Given the description of an element on the screen output the (x, y) to click on. 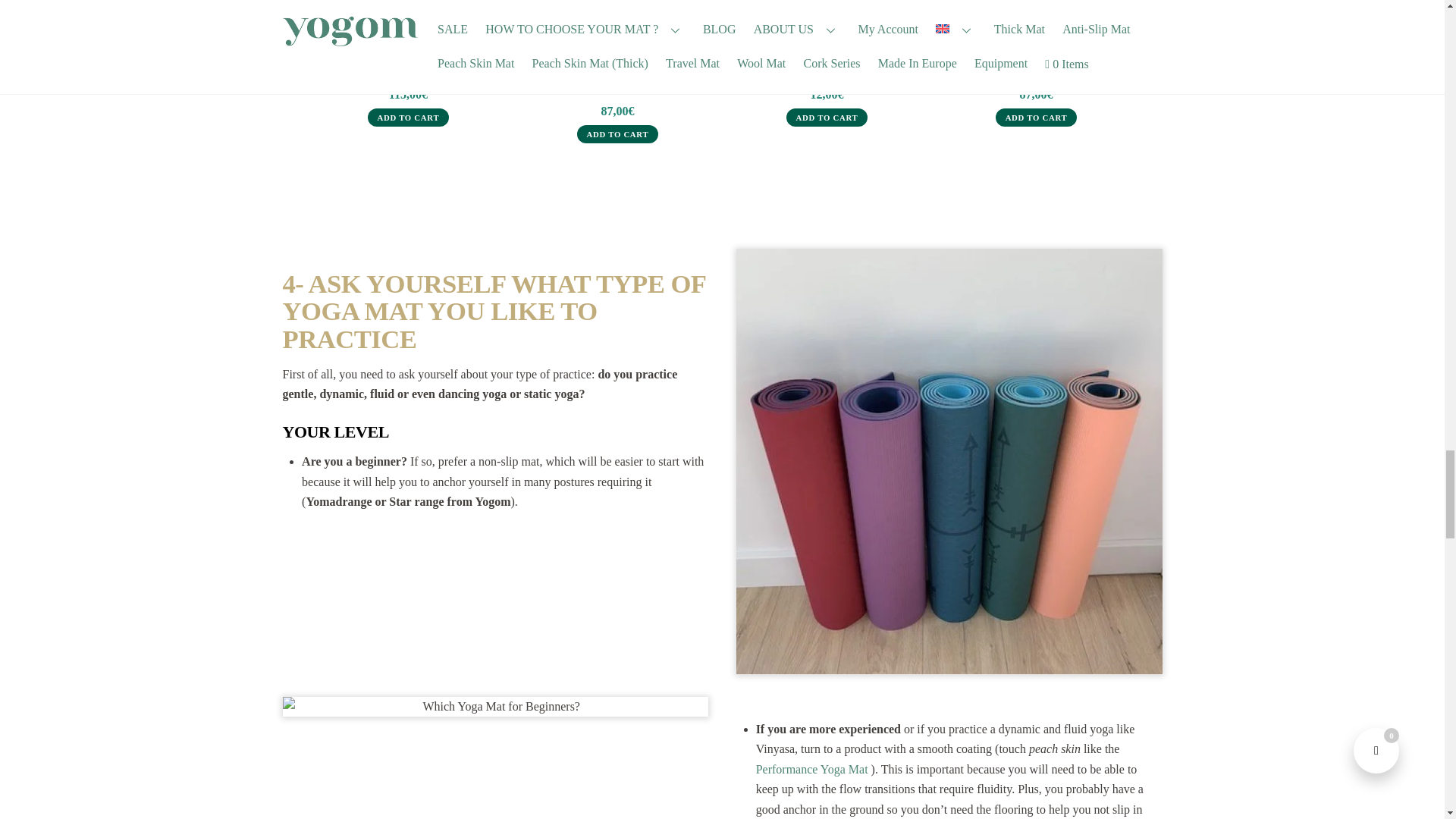
Yoga mat Star Yogom samadhi duck gold (408, 27)
Yoga Mat Performance Samadhi honey Yogom (617, 27)
brique de yoga eva bleu marine yoga (826, 27)
Tapis de yoga Performance Yogom Ginko (1036, 27)
Performance Samadhi Honey Yoga Mat (617, 81)
Yoga mat Star Samadhi Duck Gold (408, 72)
